Given the description of an element on the screen output the (x, y) to click on. 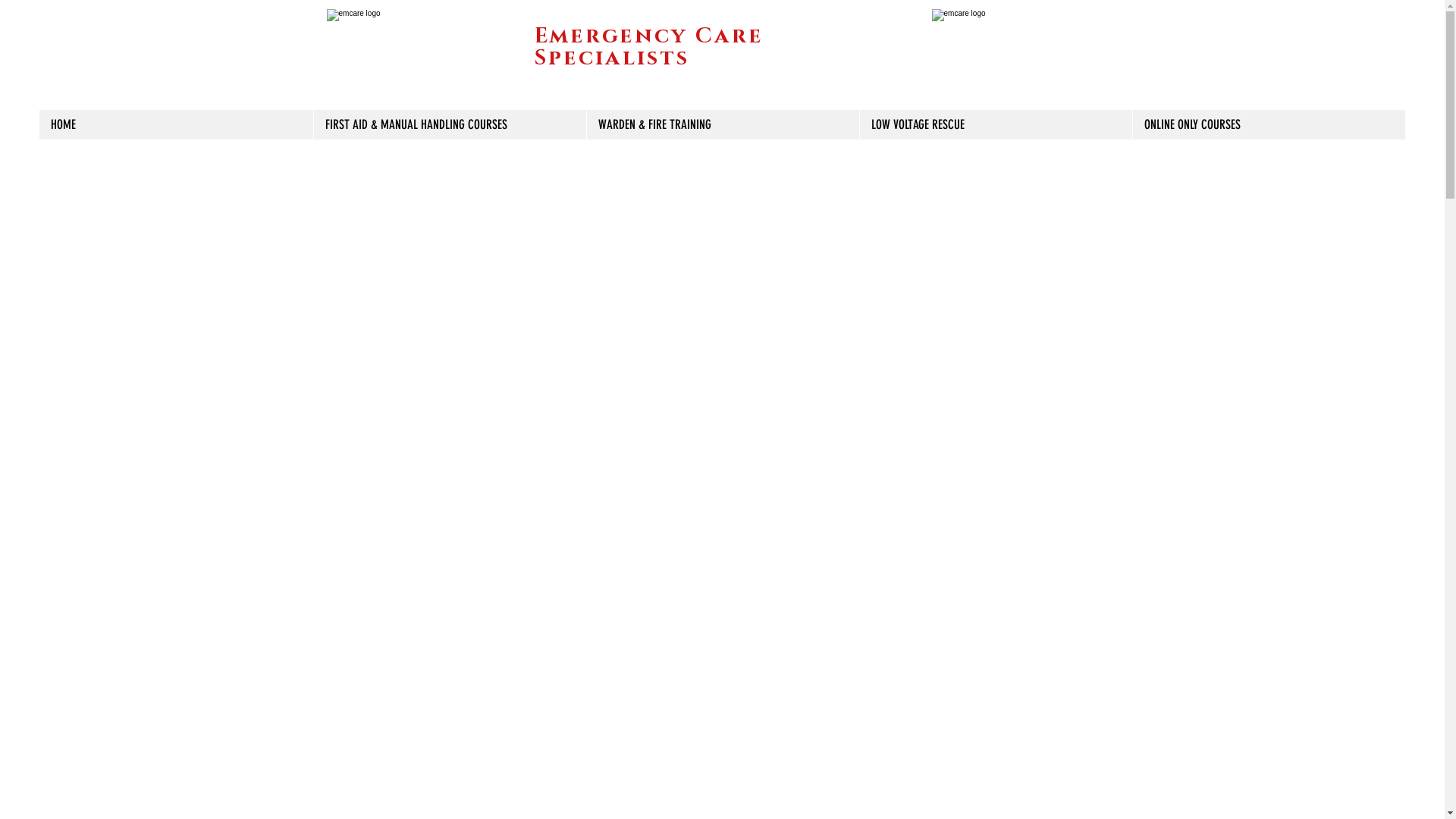
ONLINE ONLY COURSES Element type: text (1268, 124)
LOW VOLTAGE RESCUE Element type: text (995, 124)
WARDEN & FIRE TRAINING Element type: text (722, 124)
FIRST AID & MANUAL HANDLING COURSES Element type: text (449, 124)
HOME Element type: text (176, 124)
